Given the description of an element on the screen output the (x, y) to click on. 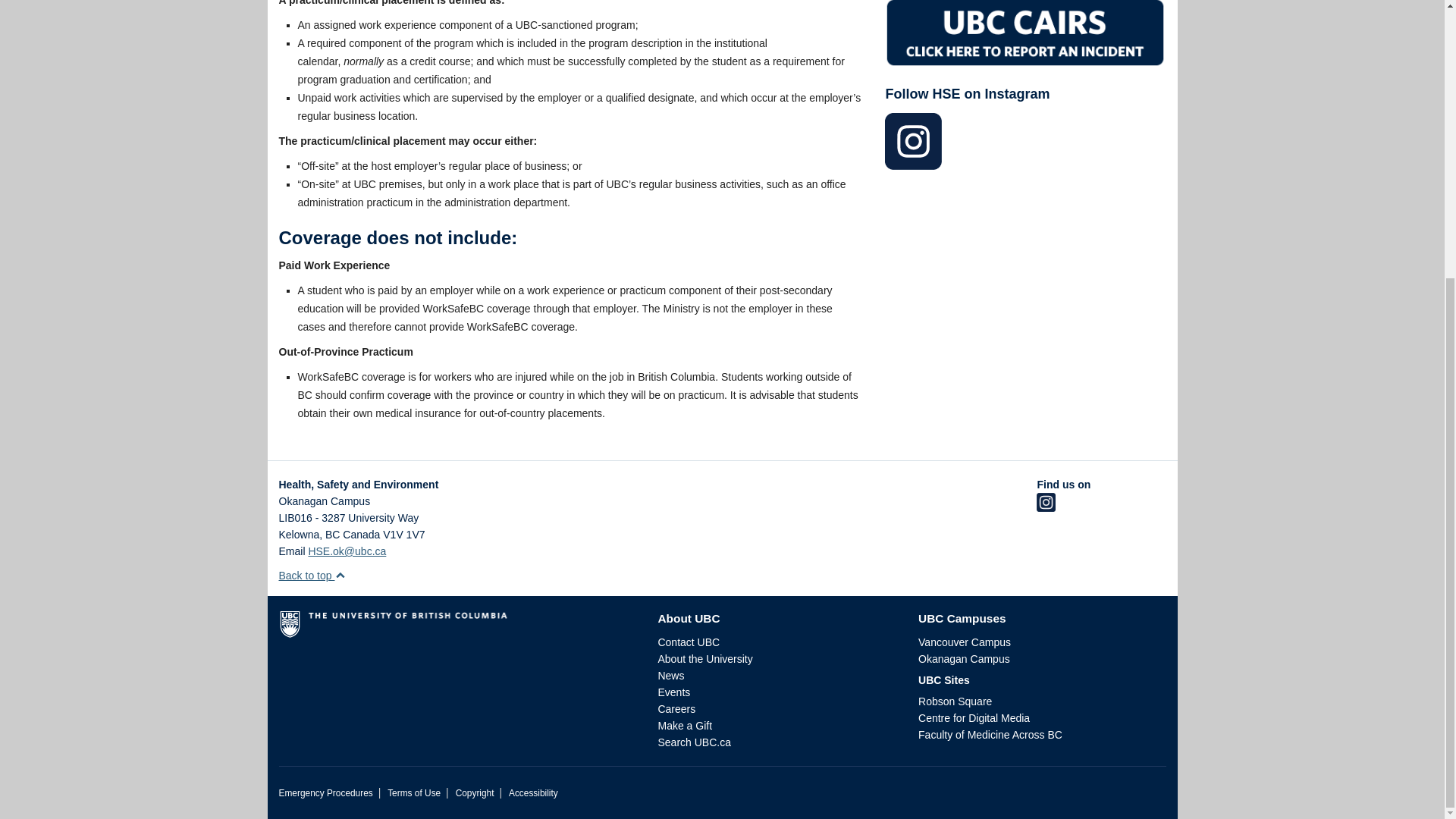
Emergency Procedures (325, 792)
Back to top (312, 575)
Accessibility (532, 792)
Terms of Use (414, 792)
UBC Copyright (475, 792)
Instagram icon (1045, 508)
